Given the description of an element on the screen output the (x, y) to click on. 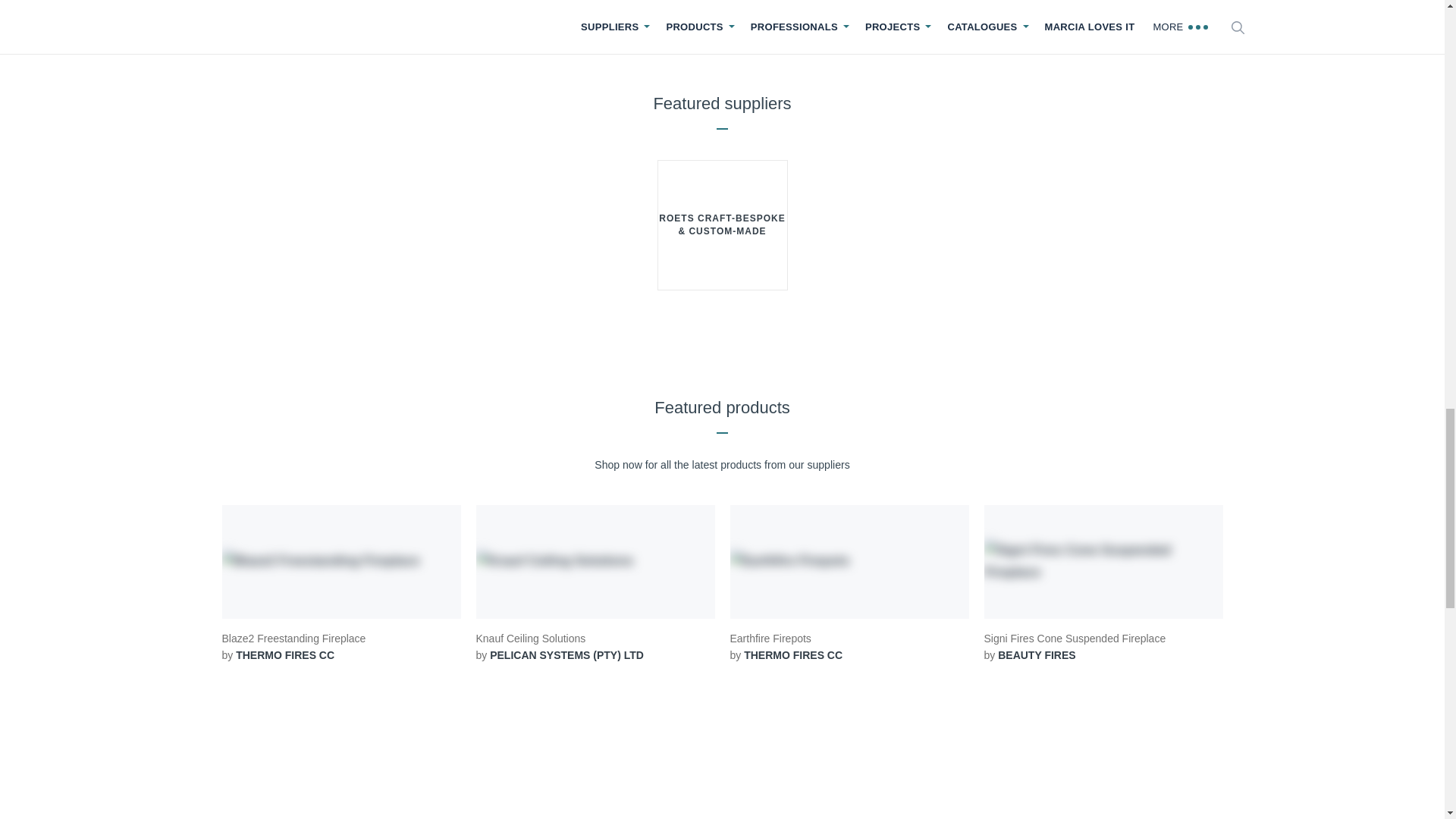
Blaze2 Freestanding Fireplace (340, 561)
Knauf Ceiling Solutions (595, 584)
Blaze2 Freestanding Fireplace (340, 584)
Knauf Ceiling Solutions (595, 561)
Earthfire Firepots (848, 584)
